Given the description of an element on the screen output the (x, y) to click on. 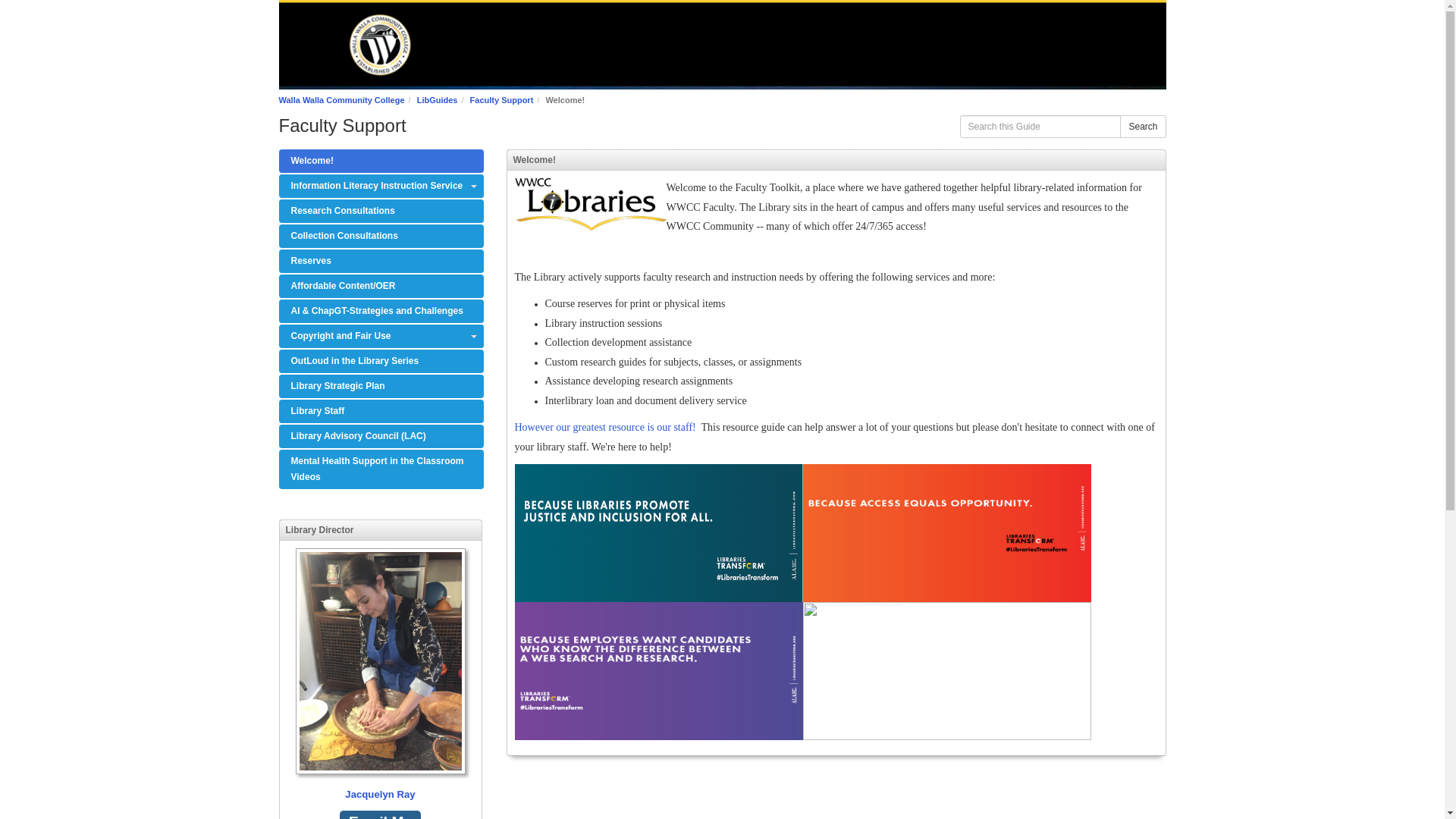
Library Strategic Plan (381, 386)
Reserves (381, 260)
Copyright and Fair Use (381, 336)
Email Me (379, 814)
Information Literacy Instruction Services (381, 186)
OutLoud in the Library Series (381, 361)
Library Staff (381, 411)
However our greatest resource is our staff! (604, 427)
Welcome! (381, 160)
Faculty Support (502, 99)
Mental Health Support in the Classroom Videos (381, 468)
Search (1142, 126)
Toggle Dropdown (473, 186)
Walla Walla Community College (341, 99)
LibGuides (437, 99)
